Given the description of an element on the screen output the (x, y) to click on. 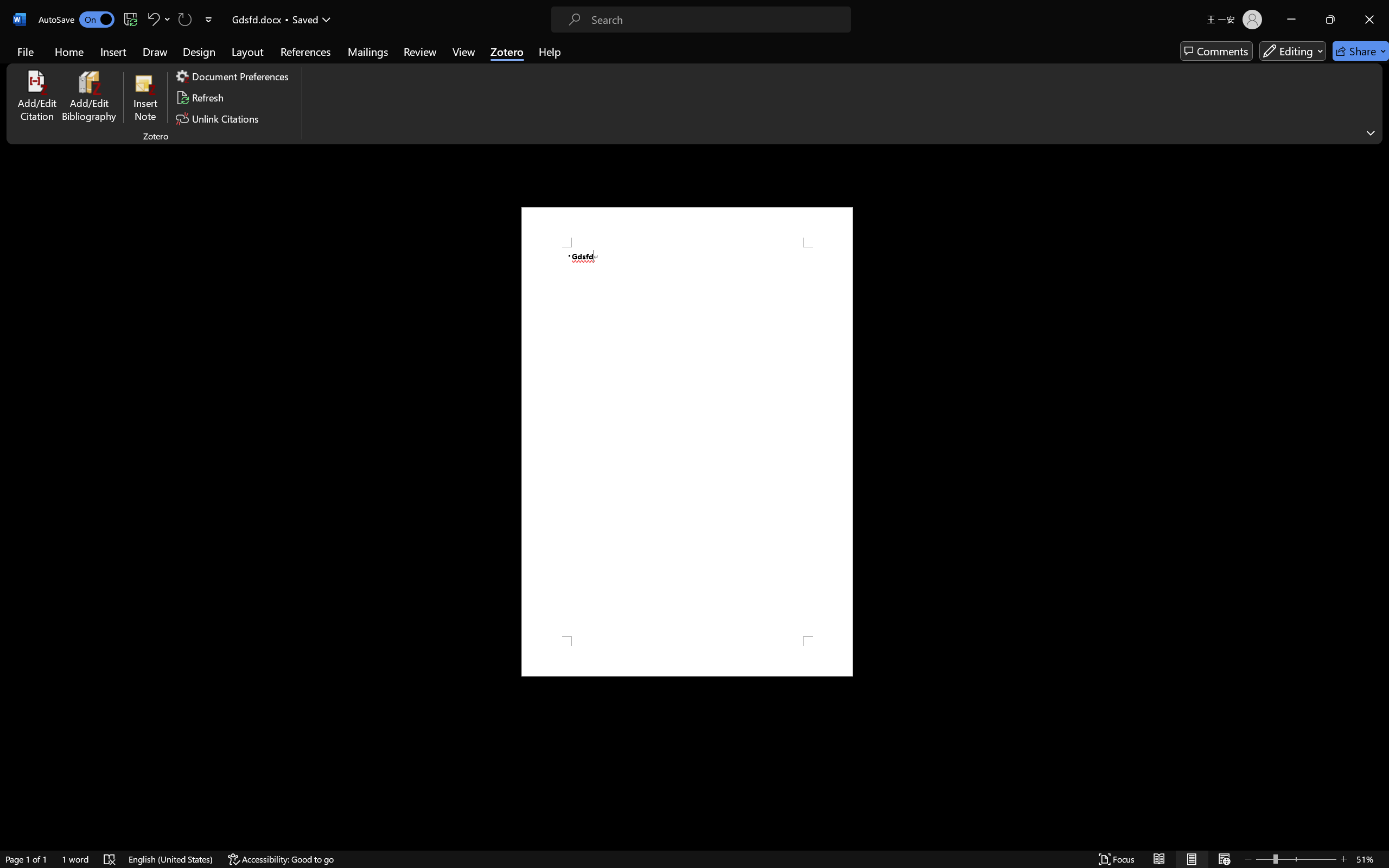
Page 1 content (686, 441)
